Given the description of an element on the screen output the (x, y) to click on. 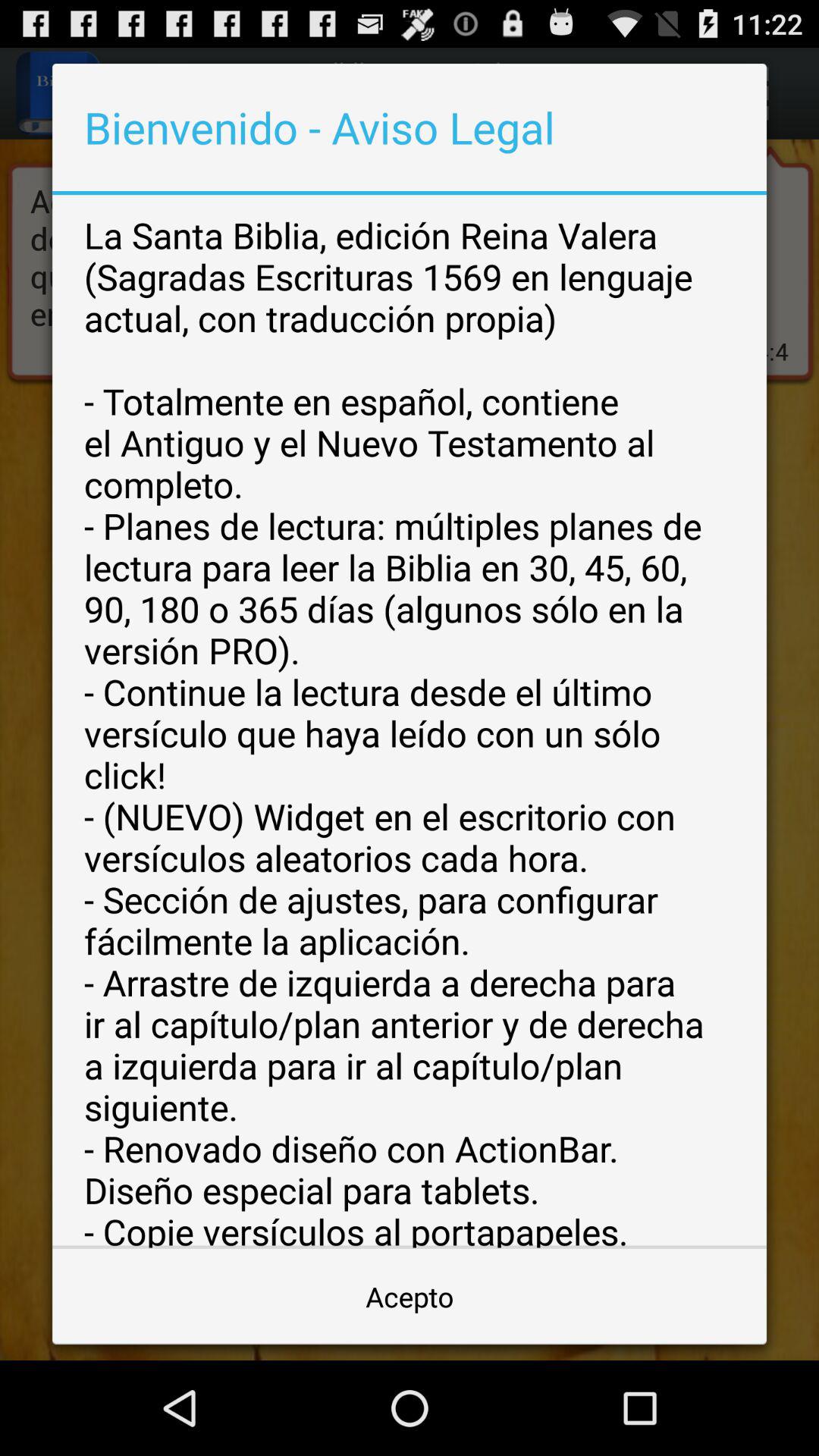
turn on acepto icon (409, 1296)
